Given the description of an element on the screen output the (x, y) to click on. 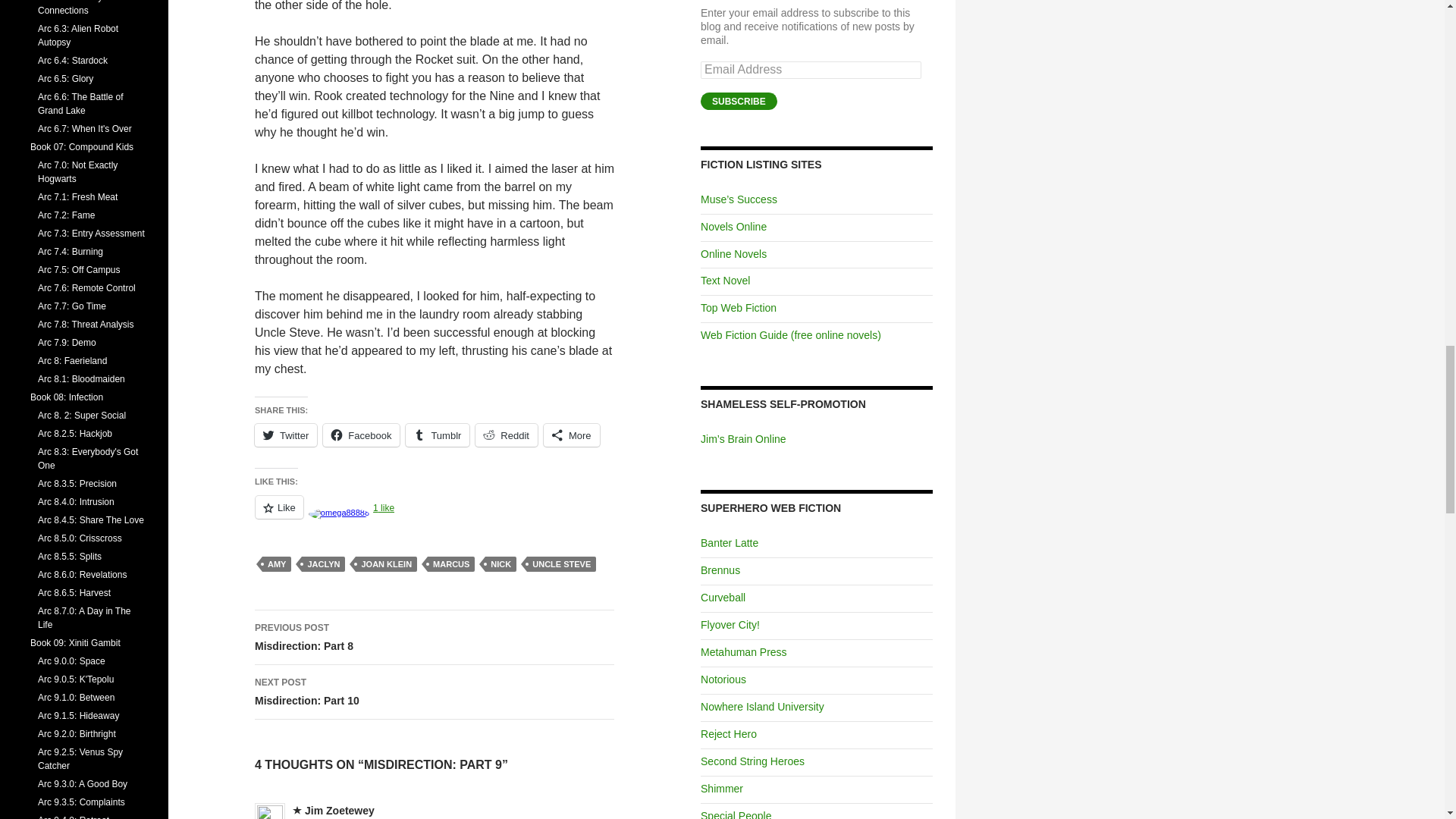
Like or Reblog (434, 516)
Jim Zoetewey (339, 810)
UNCLE STEVE (561, 563)
Click to share on Facebook (360, 435)
Reddit (506, 435)
Click to share on Twitter (285, 435)
JOAN KLEIN (385, 563)
Facebook (360, 435)
Tumblr (434, 637)
NICK (437, 435)
MARCUS (500, 563)
Twitter (451, 563)
AMY (434, 692)
